Given the description of an element on the screen output the (x, y) to click on. 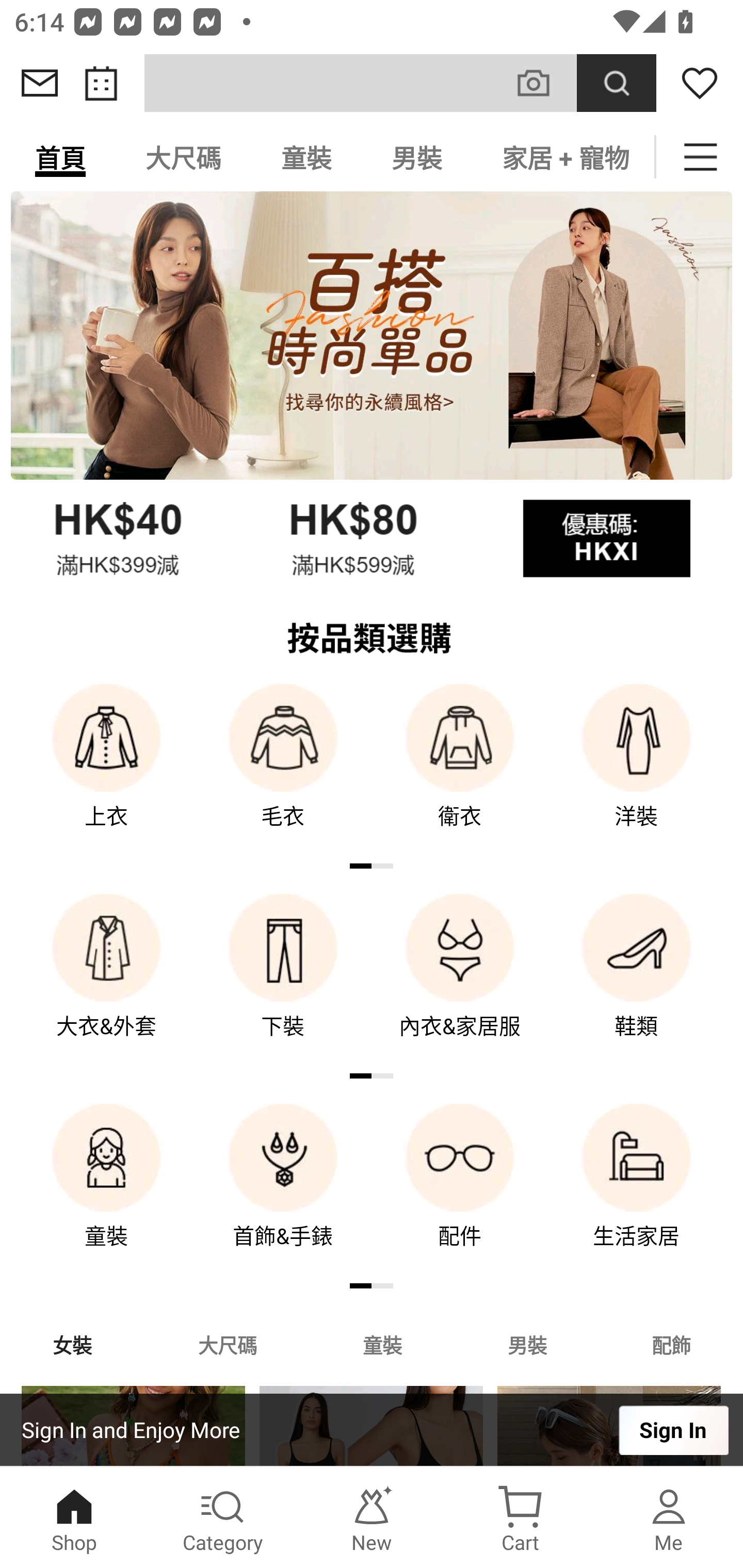
Wishlist (699, 82)
VISUAL SEARCH (543, 82)
首頁 (60, 156)
大尺碼 (183, 156)
童裝 (306, 156)
男裝 (416, 156)
家居 + 寵物 (563, 156)
上衣 (105, 769)
毛衣 (282, 769)
衛衣 (459, 769)
洋裝 (636, 769)
大衣&外套 (105, 979)
下裝 (282, 979)
內衣&家居服 (459, 979)
鞋類 (636, 979)
童裝 (105, 1189)
首飾&手錶 (282, 1189)
配件 (459, 1189)
生活家居 (636, 1189)
女裝 (72, 1344)
大尺碼 (226, 1344)
童裝 (381, 1344)
男裝 (527, 1344)
配飾 (671, 1344)
Category (222, 1517)
New (371, 1517)
Cart (519, 1517)
Me (668, 1517)
